Given the description of an element on the screen output the (x, y) to click on. 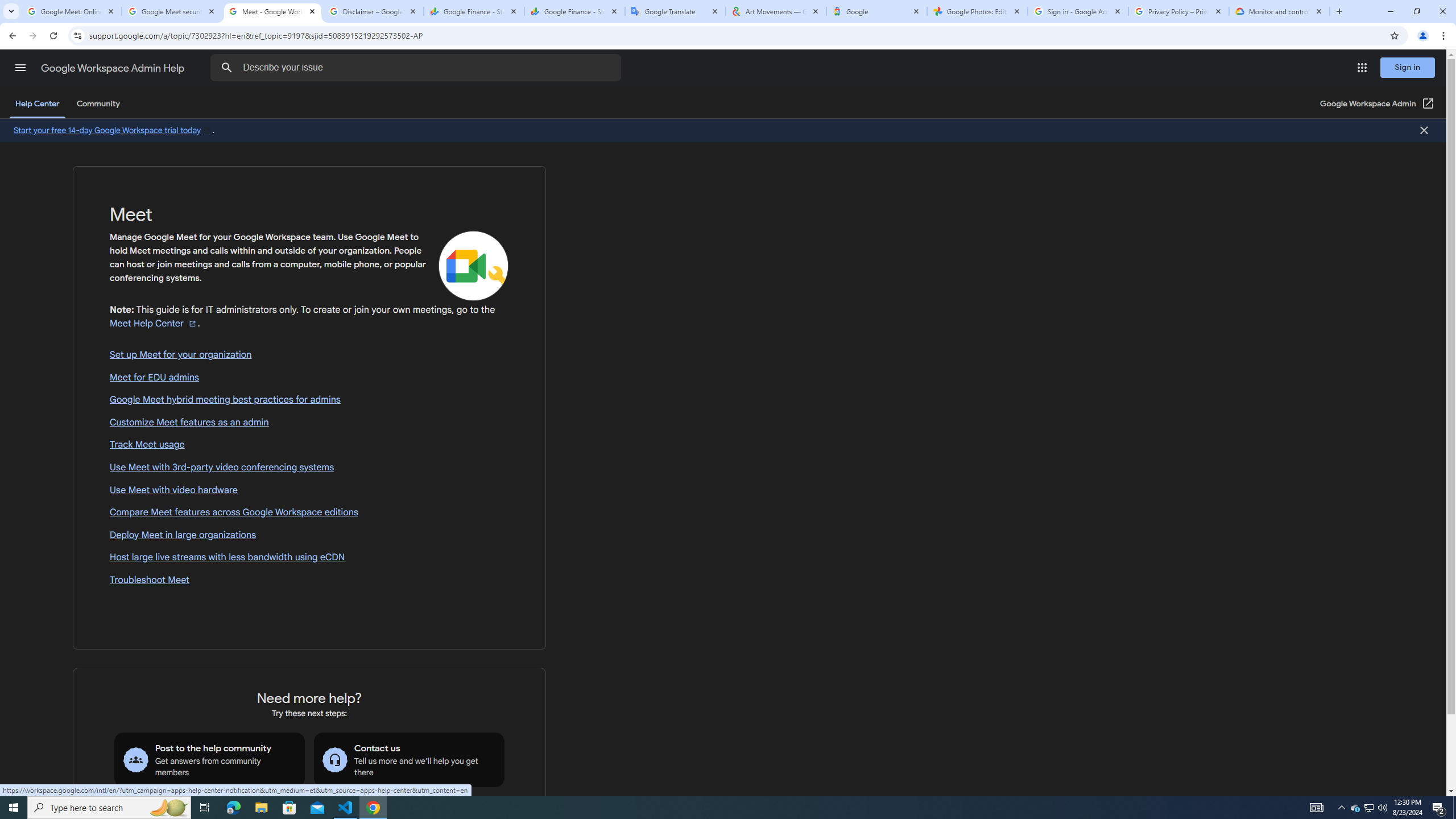
Deploy Meet in large organizations (309, 535)
Start your free 14-day Google Workspace trial today (112, 130)
Meet Help Center  (153, 323)
Google Workspace Admin Help (113, 68)
Use Meet with 3rd-party video conferencing systems (309, 467)
Set up Meet for your organization (309, 355)
Google Workspace Admin (Open in a new window) (1377, 103)
Troubleshoot Meet (309, 580)
